Given the description of an element on the screen output the (x, y) to click on. 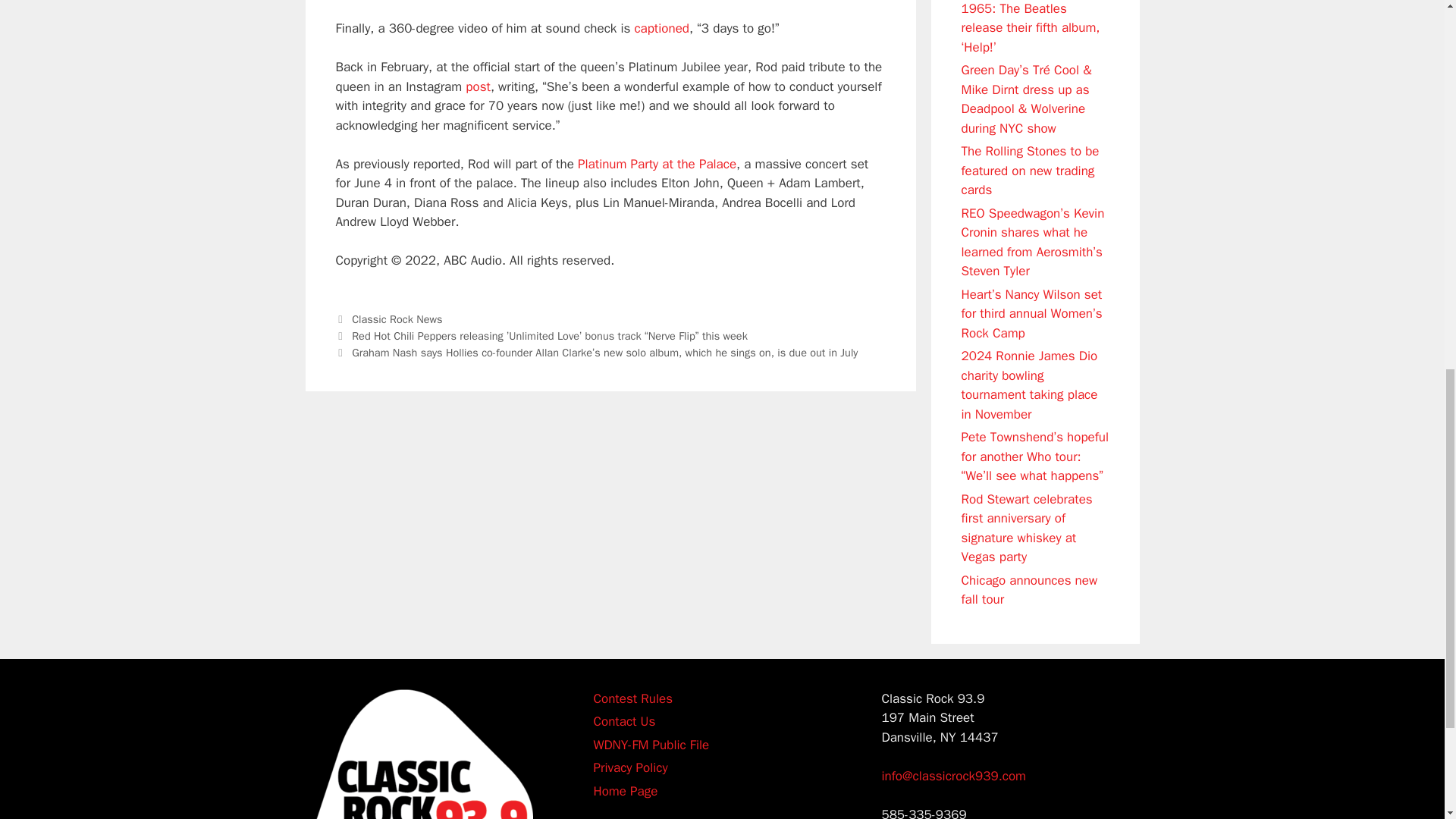
Contest Rules (632, 697)
The Rolling Stones to be featured on new trading cards (1029, 170)
Platinum Party at the Palace (657, 163)
captioned (660, 28)
post (477, 86)
Chicago announces new fall tour (1028, 589)
Classic Rock News (397, 318)
